Given the description of an element on the screen output the (x, y) to click on. 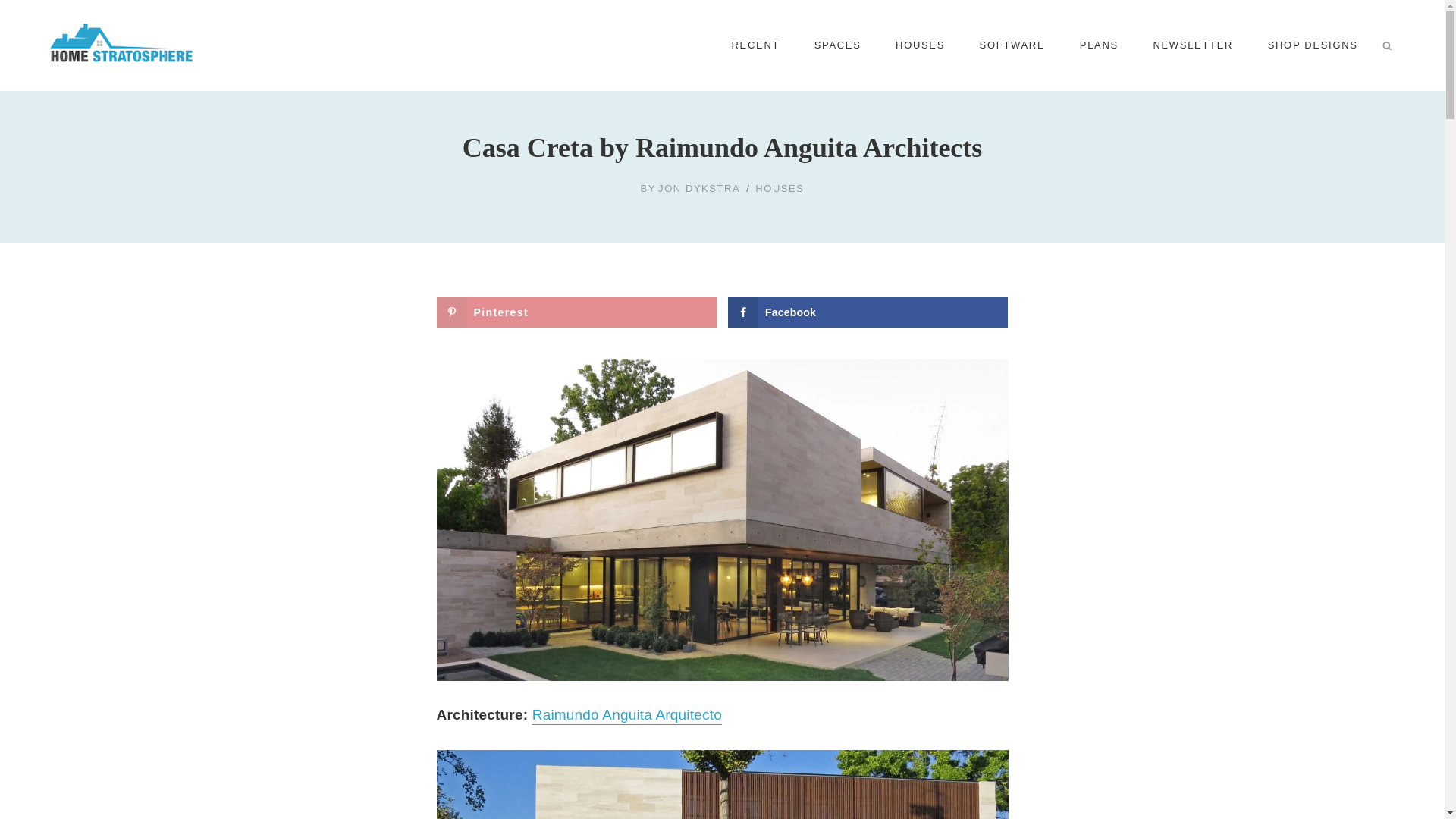
Share on Facebook (867, 312)
SPACES (836, 45)
Save to Pinterest (576, 312)
RECENT (755, 45)
